Given the description of an element on the screen output the (x, y) to click on. 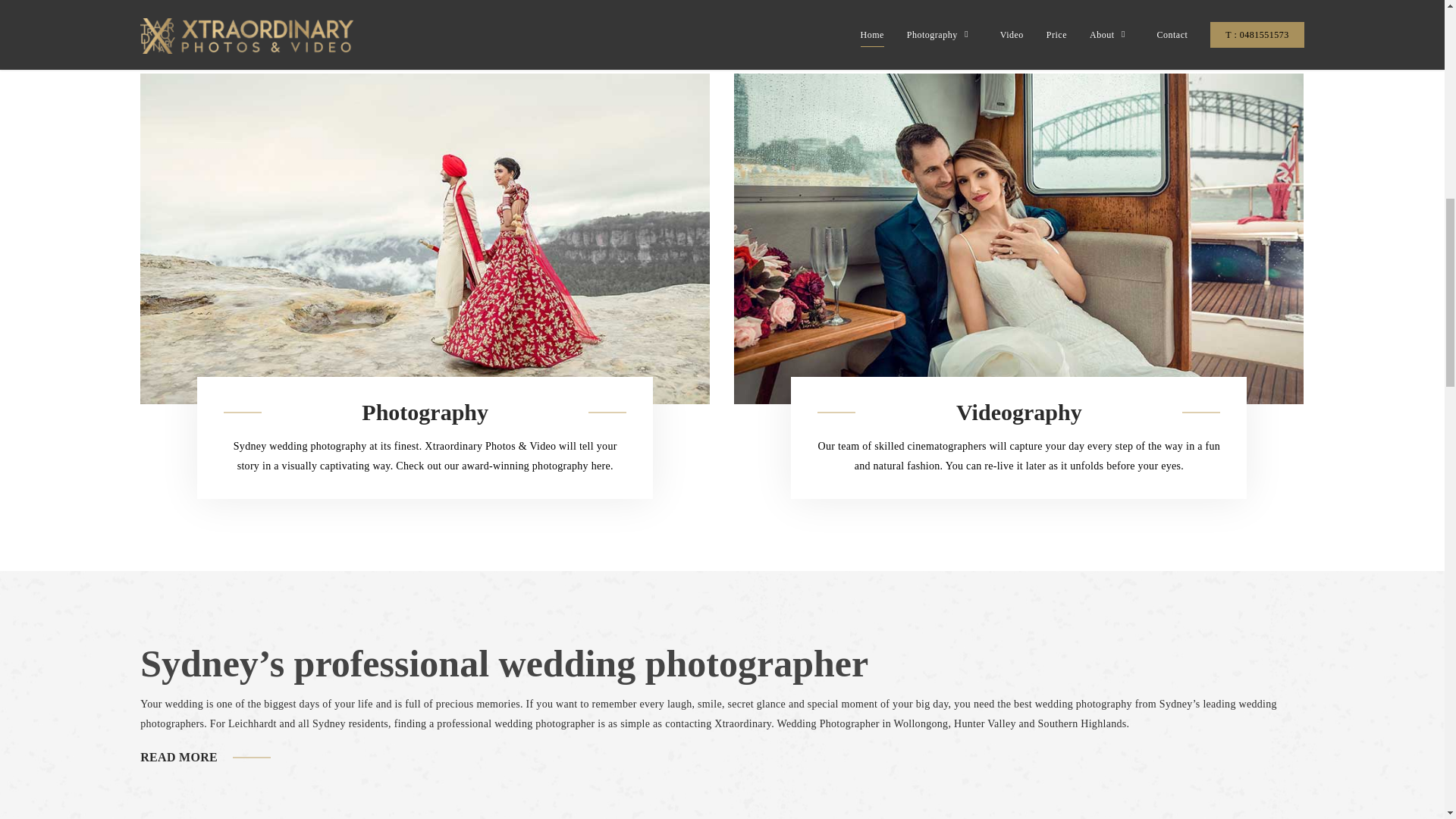
READ MORE (177, 757)
